Given the description of an element on the screen output the (x, y) to click on. 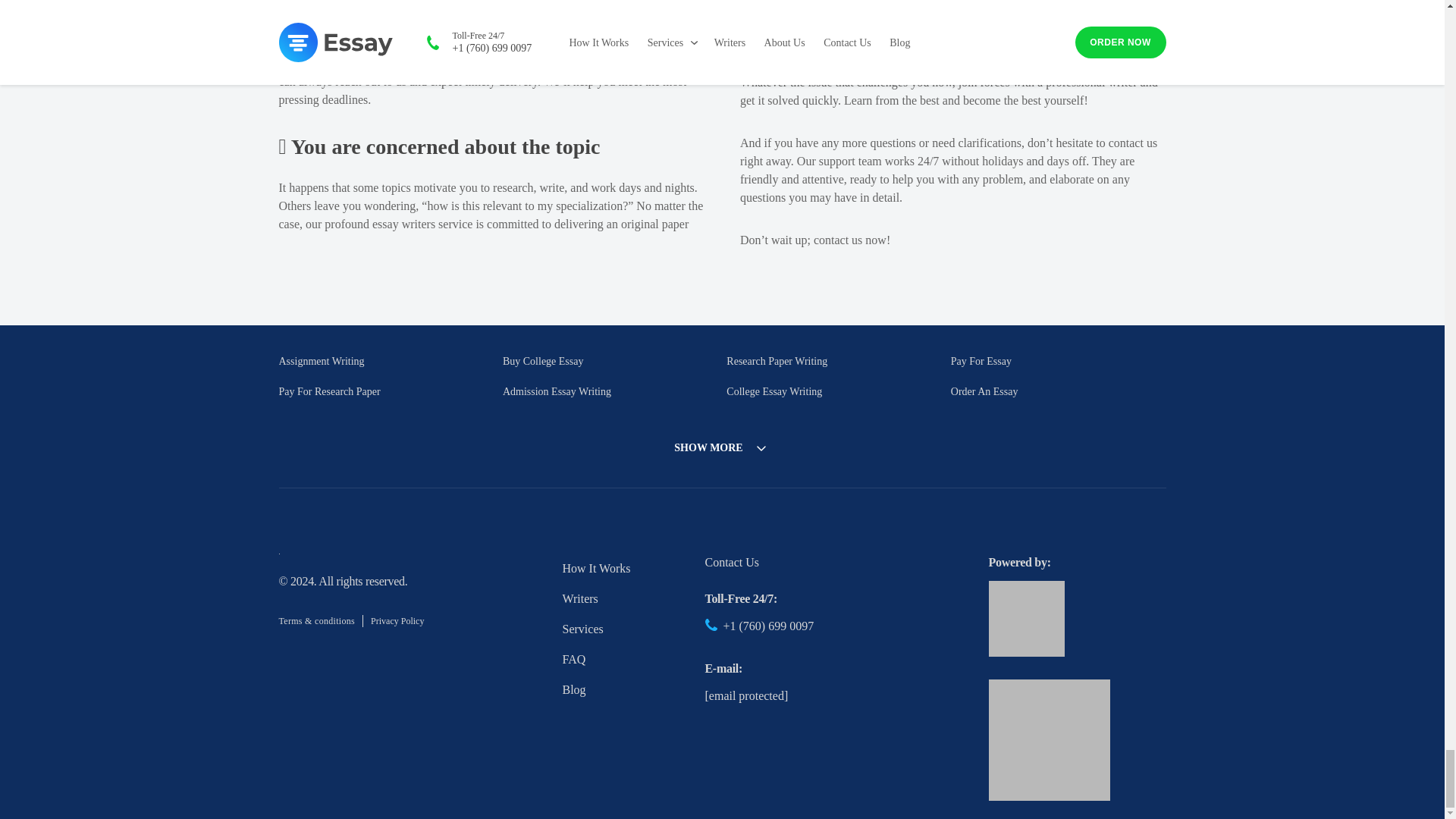
Buy College Essay (542, 360)
Admission Essay Writing (556, 391)
Order An Essay (983, 391)
Assignment Writing (322, 360)
Research Paper Writing (776, 360)
College Essay Writing (774, 391)
Pay For Essay (980, 360)
Pay For Research Paper (329, 391)
